Given the description of an element on the screen output the (x, y) to click on. 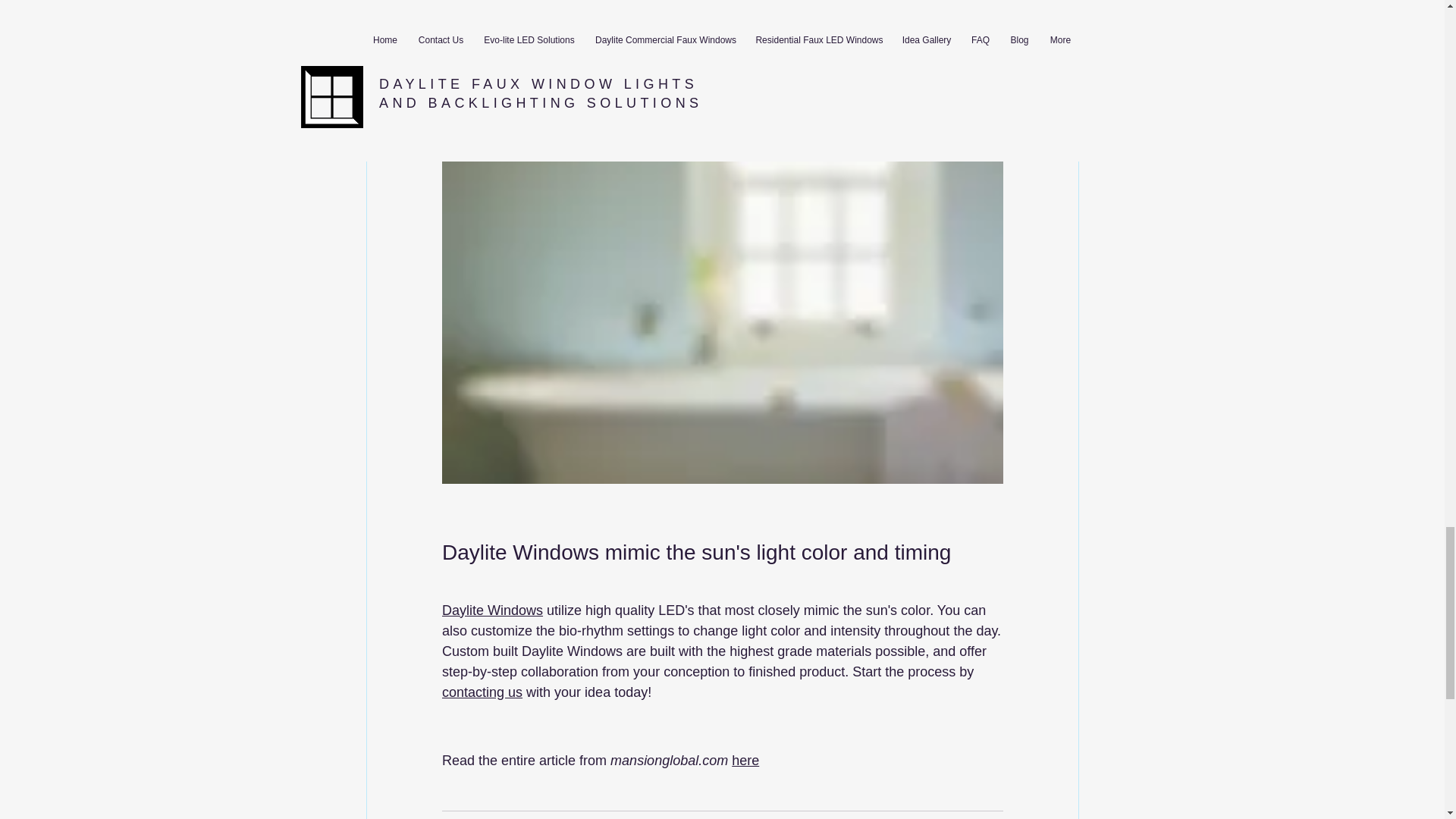
here (745, 760)
contacting us (481, 692)
Daylite Windows (491, 610)
